Given the description of an element on the screen output the (x, y) to click on. 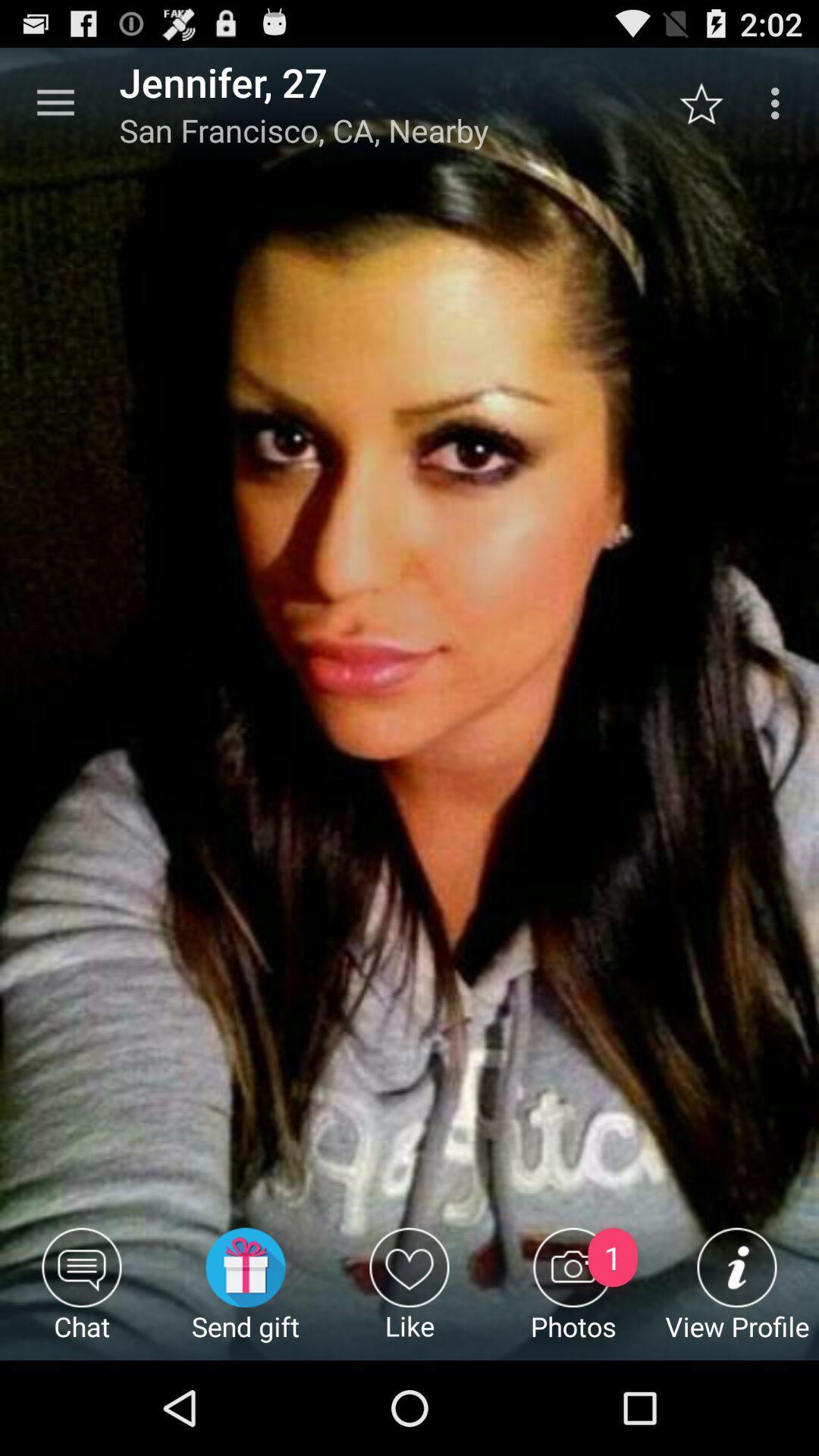
scroll to like icon (409, 1293)
